Given the description of an element on the screen output the (x, y) to click on. 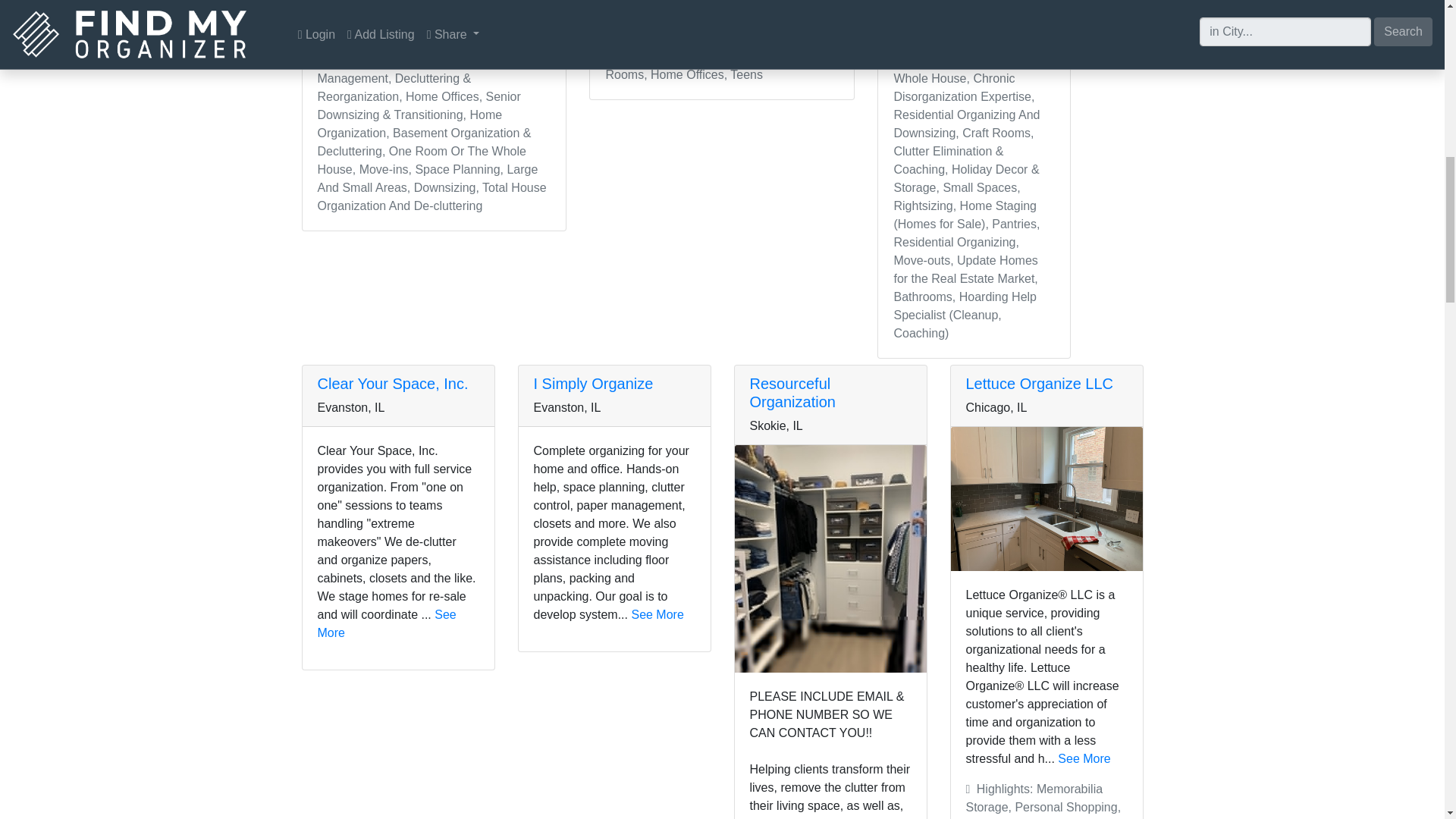
Clear Your Space, Inc. (392, 383)
See More (1083, 758)
I Simply Organize (593, 383)
Resourceful Organization (791, 392)
See More (386, 623)
See More (656, 614)
Lettuce Organize LLC (1039, 383)
See More (356, 29)
